Given the description of an element on the screen output the (x, y) to click on. 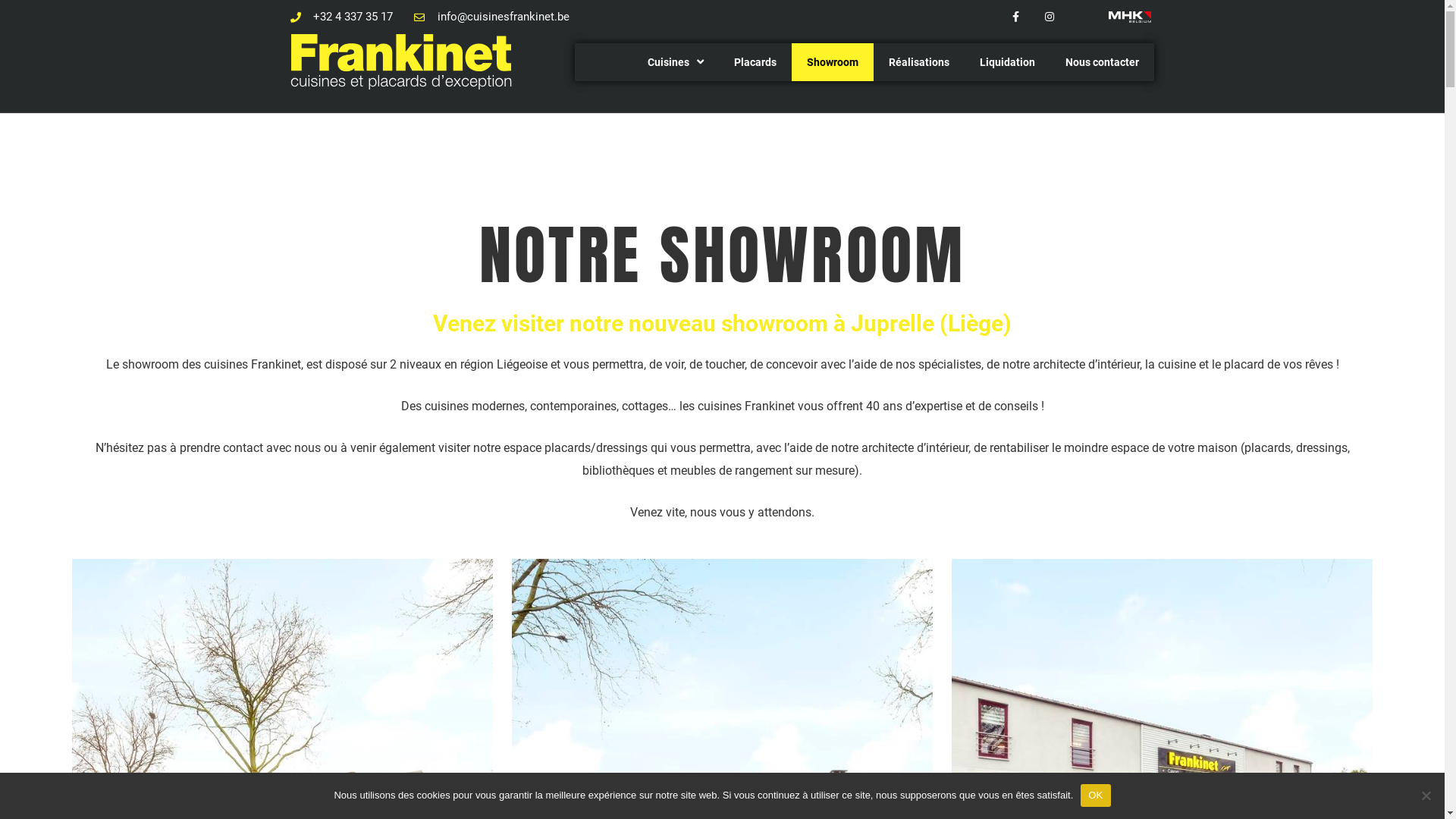
Nous contacter Element type: text (1102, 62)
Cuisines Element type: text (675, 62)
info@cuisinesfrankinet.be Element type: text (491, 17)
Non Element type: hover (1425, 795)
Showroom Element type: text (832, 62)
Placards Element type: text (754, 62)
+32 4 337 35 17 Element type: text (340, 17)
OK Element type: text (1095, 795)
Liquidation Element type: text (1007, 62)
